Given the description of an element on the screen output the (x, y) to click on. 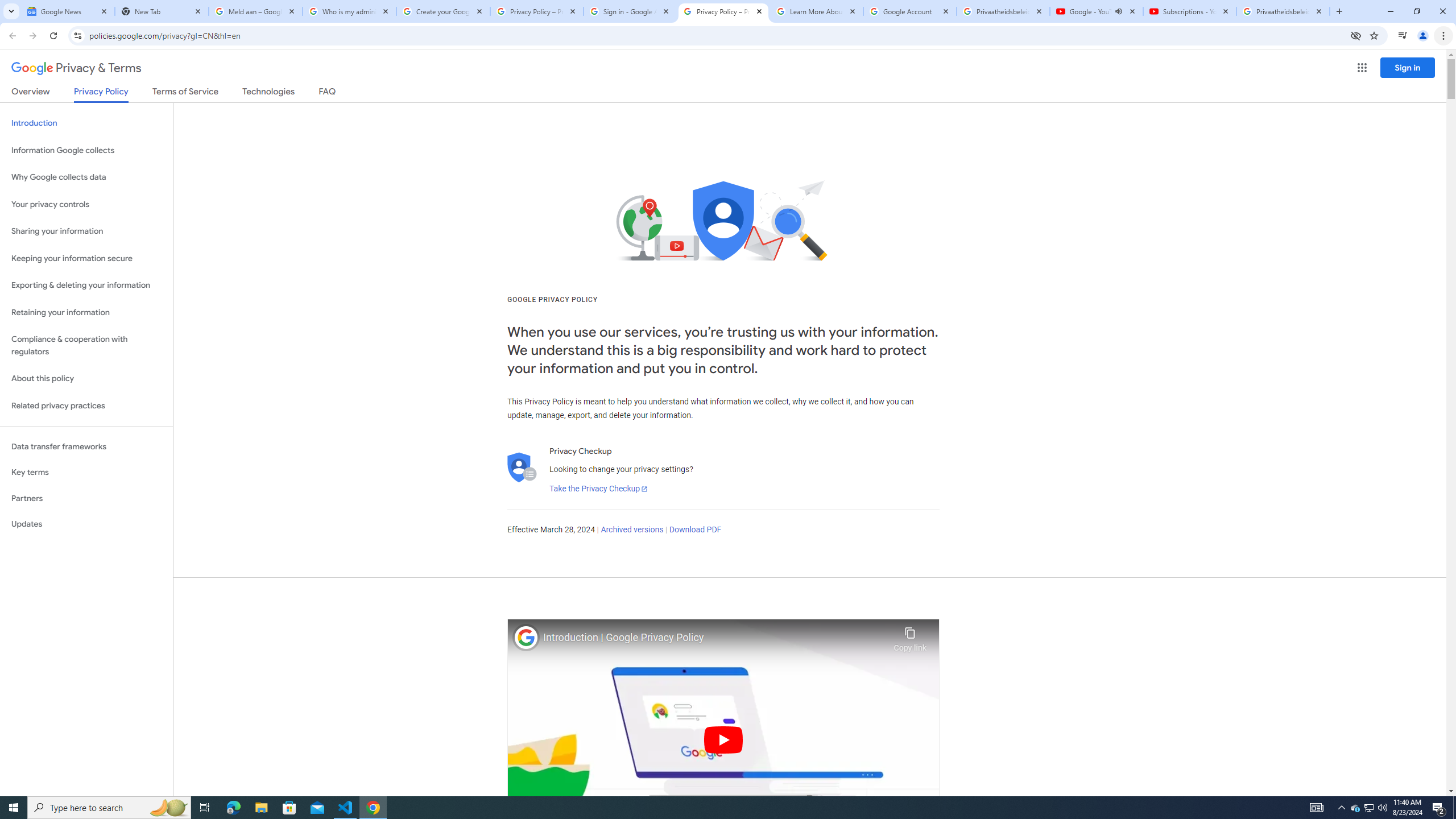
Download PDF (695, 529)
New Tab (161, 11)
Copy link (909, 636)
Play (723, 739)
